Given the description of an element on the screen output the (x, y) to click on. 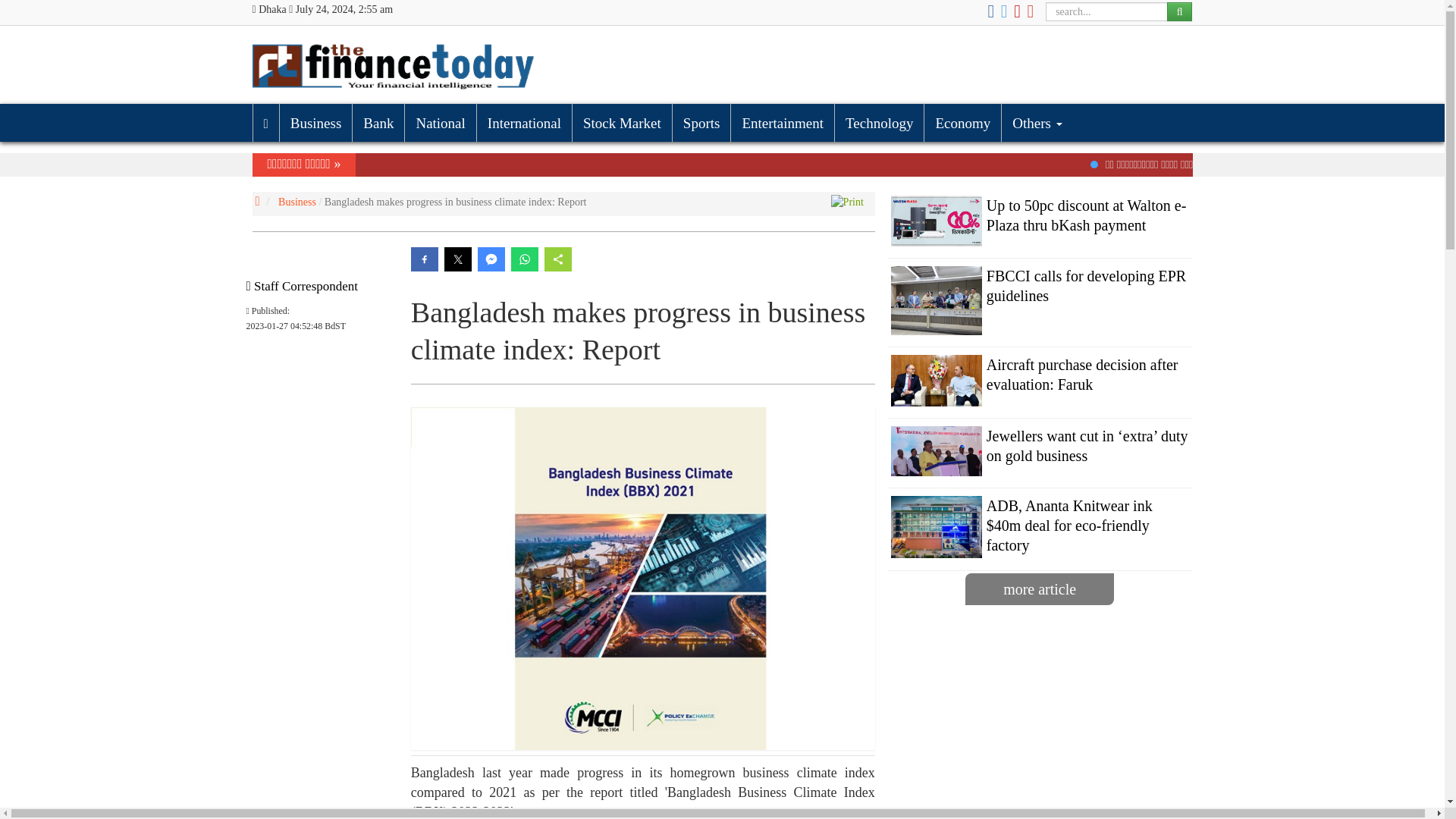
Business (315, 122)
Print (847, 202)
Sports (700, 122)
Technology (878, 122)
Stock Market (621, 122)
National (440, 122)
Bank (378, 122)
Entertainment (782, 122)
International (524, 122)
Economy (962, 122)
Others (1036, 122)
